Given the description of an element on the screen output the (x, y) to click on. 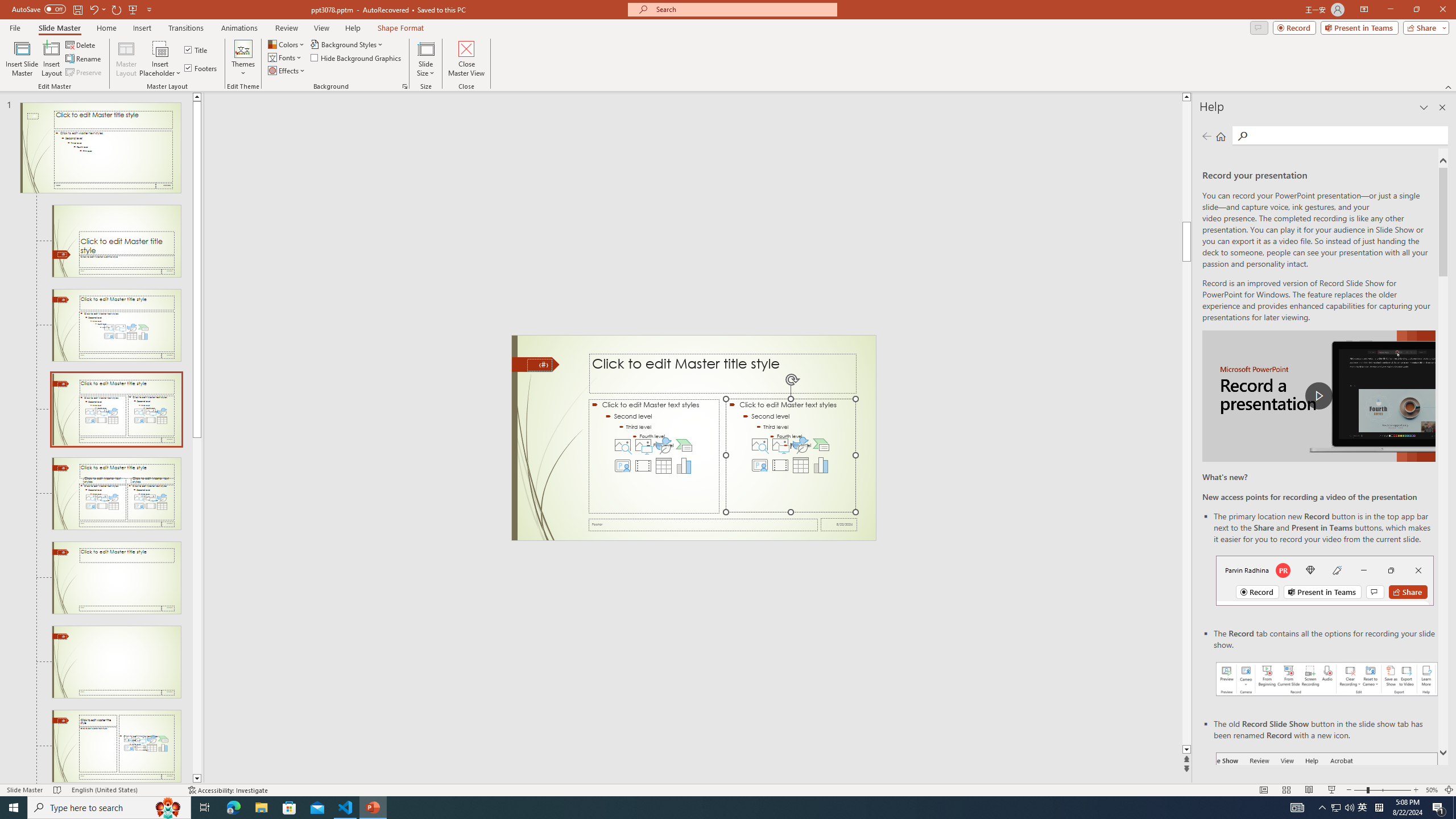
Themes (243, 58)
Slide Blank Layout: used by no slides (116, 746)
Rename (84, 58)
Previous page (1206, 136)
Slide Wisp Slide Master: used by slide(s) 1 (100, 147)
Title (196, 49)
Slide Two Content Layout: used by no slides (116, 493)
